Given the description of an element on the screen output the (x, y) to click on. 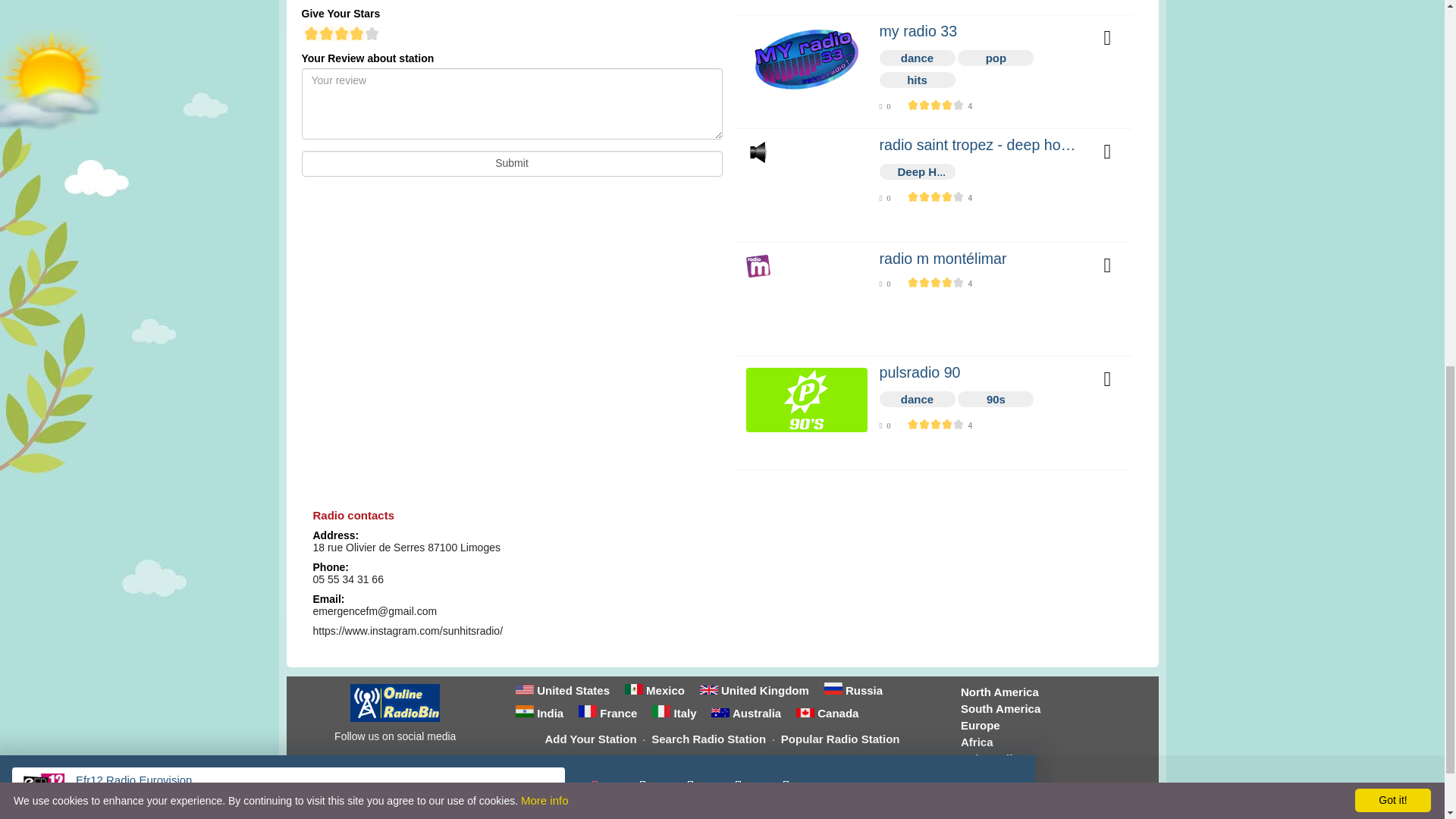
dance (917, 399)
my radio 33 (981, 31)
radio saint tropez - deep house (981, 145)
Submit (511, 163)
dance (917, 57)
pop (996, 57)
pop (996, 57)
hits (916, 79)
my radio 33 (981, 31)
pulsradio 90 (981, 372)
